Given the description of an element on the screen output the (x, y) to click on. 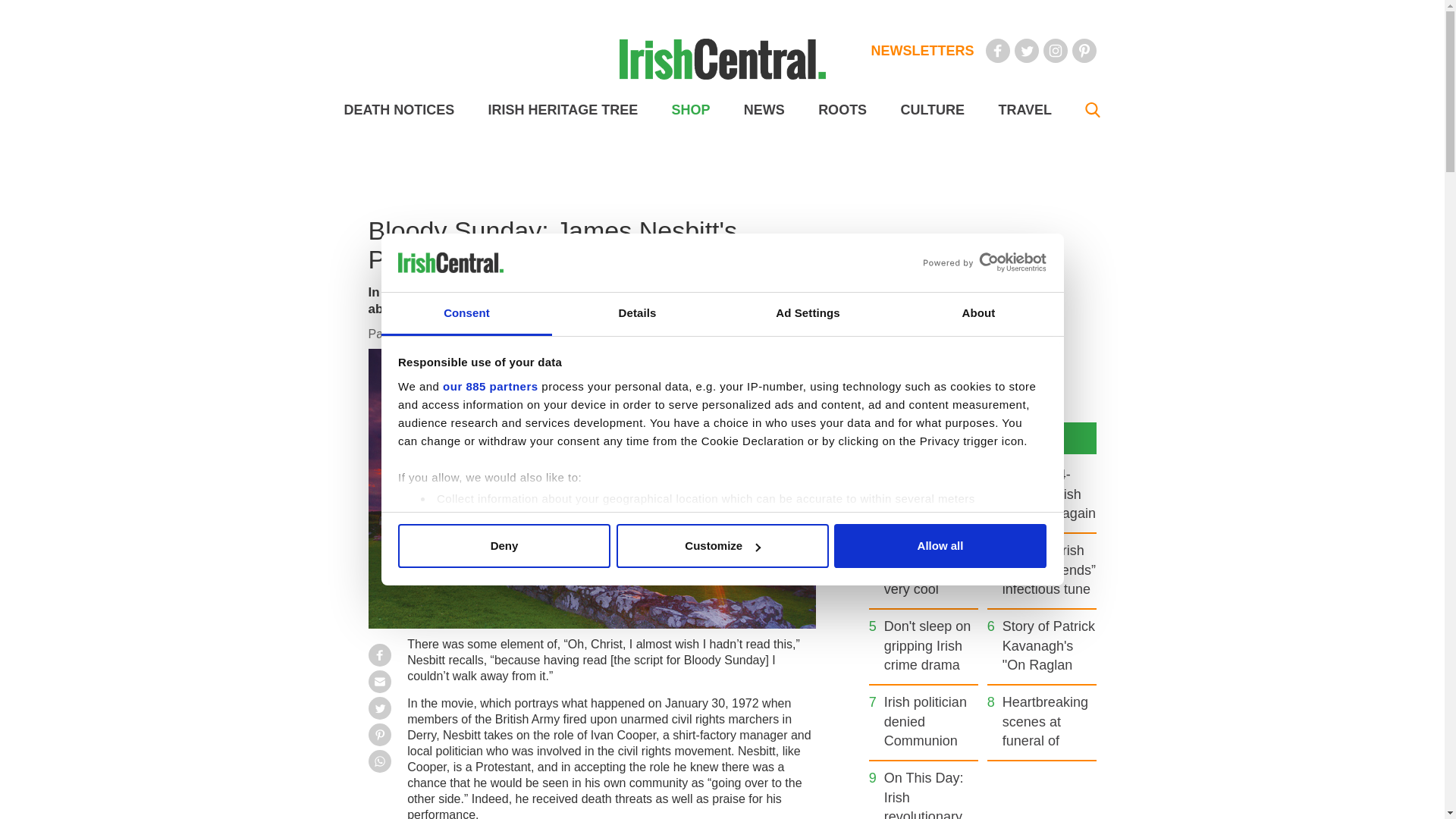
About (978, 313)
our 885 partners (490, 386)
Ad Settings (807, 313)
Consent (465, 313)
Details (636, 313)
details section (927, 536)
